Given the description of an element on the screen output the (x, y) to click on. 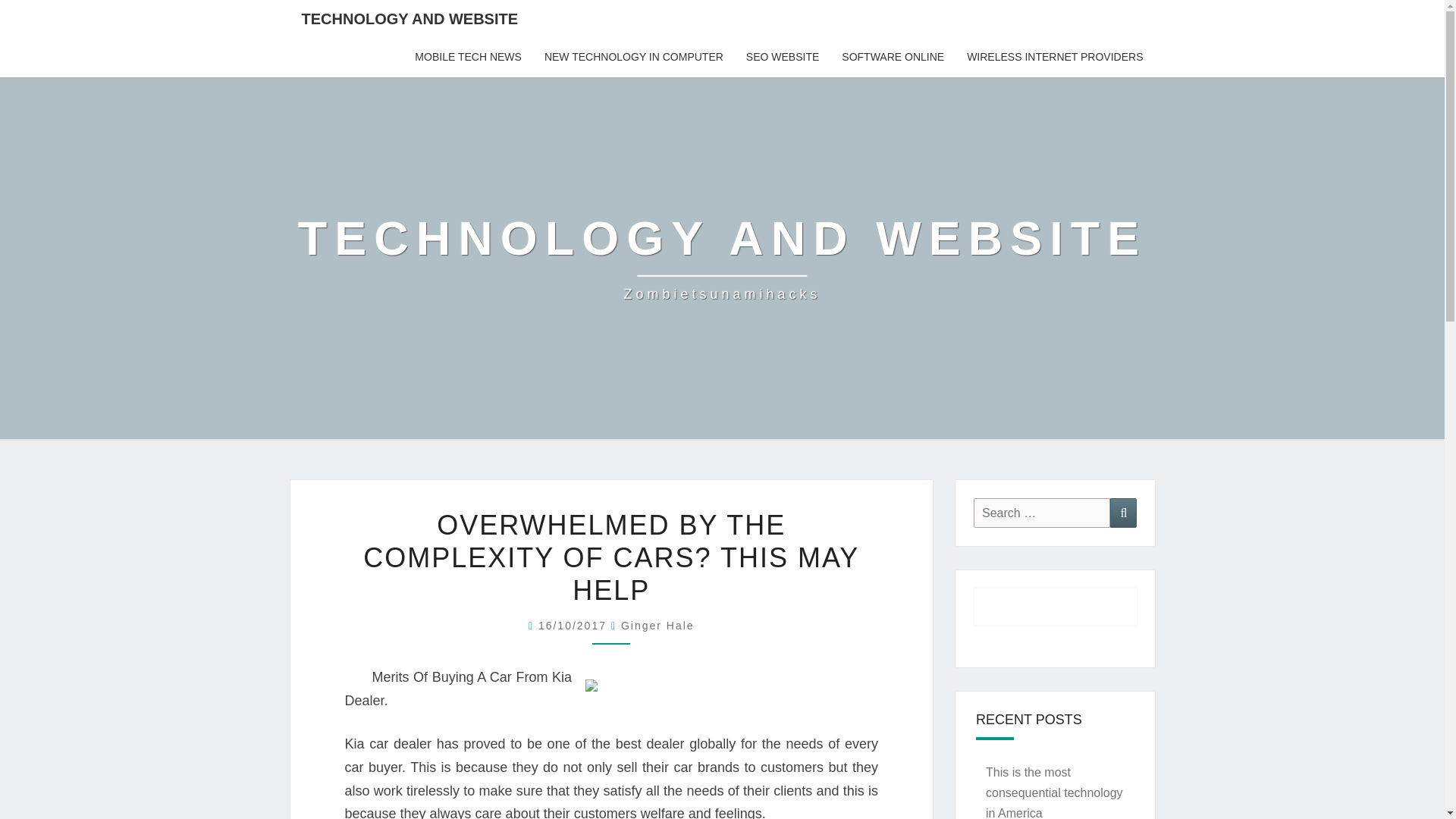
Search (722, 257)
This is the most consequential technology in America (1123, 512)
3:36 pm (1053, 792)
SOFTWARE ONLINE (574, 625)
Search for: (892, 56)
Technology and Website (1041, 512)
NEW TECHNOLOGY IN COMPUTER (722, 257)
MOBILE TECH NEWS (633, 56)
SEO WEBSITE (467, 56)
TECHNOLOGY AND WEBSITE (782, 56)
Ginger Hale (409, 18)
View all posts by Ginger Hale (657, 625)
WIRELESS INTERNET PROVIDERS (657, 625)
